Given the description of an element on the screen output the (x, y) to click on. 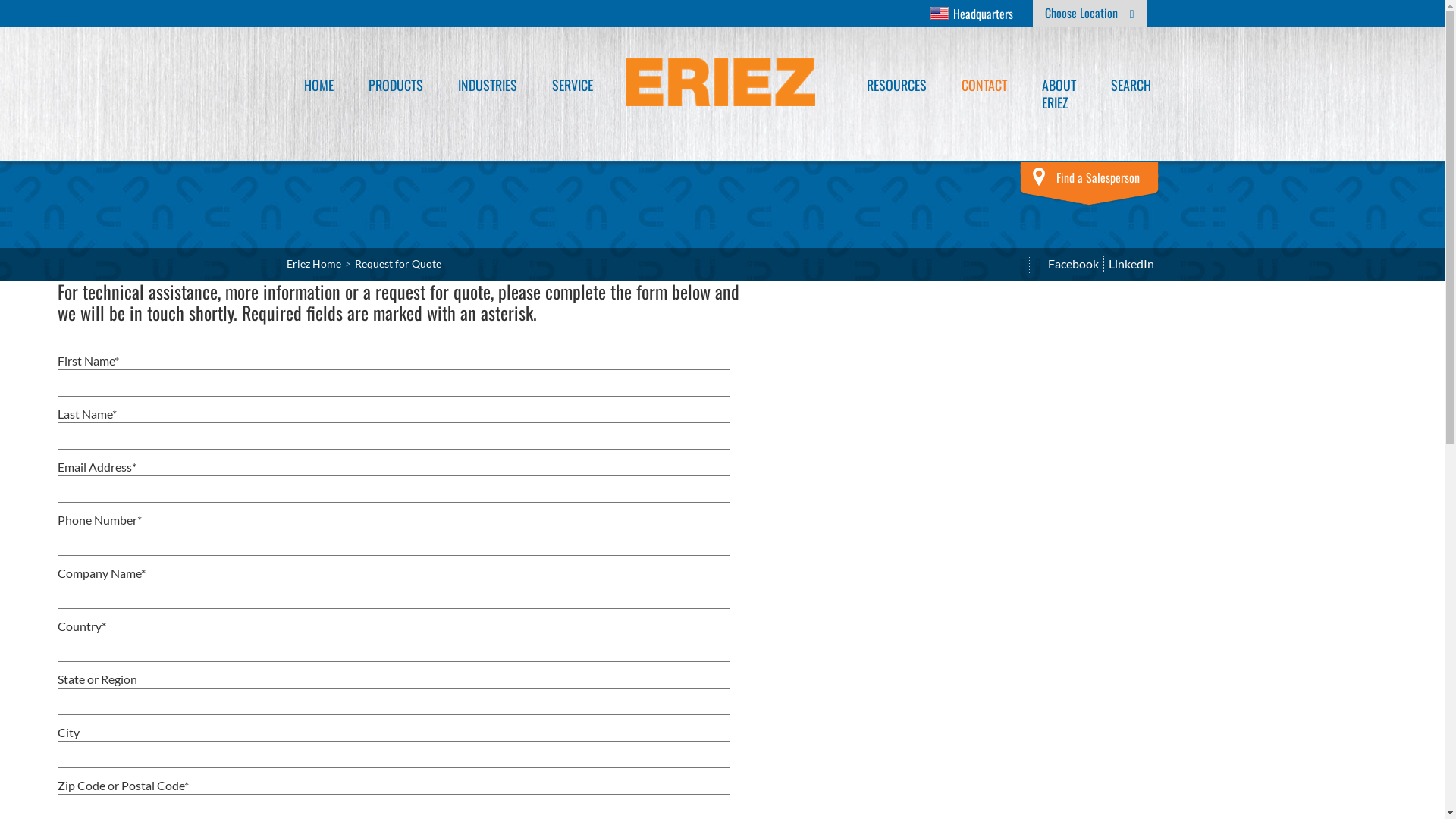
PRODUCTS Element type: text (394, 100)
  Element type: text (1022, 264)
RESOURCES Element type: text (896, 100)
CONTACT Element type: text (983, 100)
SERVICE Element type: text (571, 100)
Eriez Home Element type: text (313, 263)
Send to a Friend Element type: hover (1022, 264)
Facebook Element type: text (1071, 263)
Headquarters Element type: text (971, 13)
Choose Location Element type: text (1089, 13)
ABOUT ERIEZ Element type: text (1057, 108)
INDUSTRIES Element type: text (486, 100)
Print Element type: hover (1035, 264)
Find a Salesperson Element type: text (1088, 183)
  Element type: text (1035, 264)
HOME Element type: text (318, 100)
SEARCH Element type: text (1130, 100)
LinkedIn Element type: text (1129, 263)
